Given the description of an element on the screen output the (x, y) to click on. 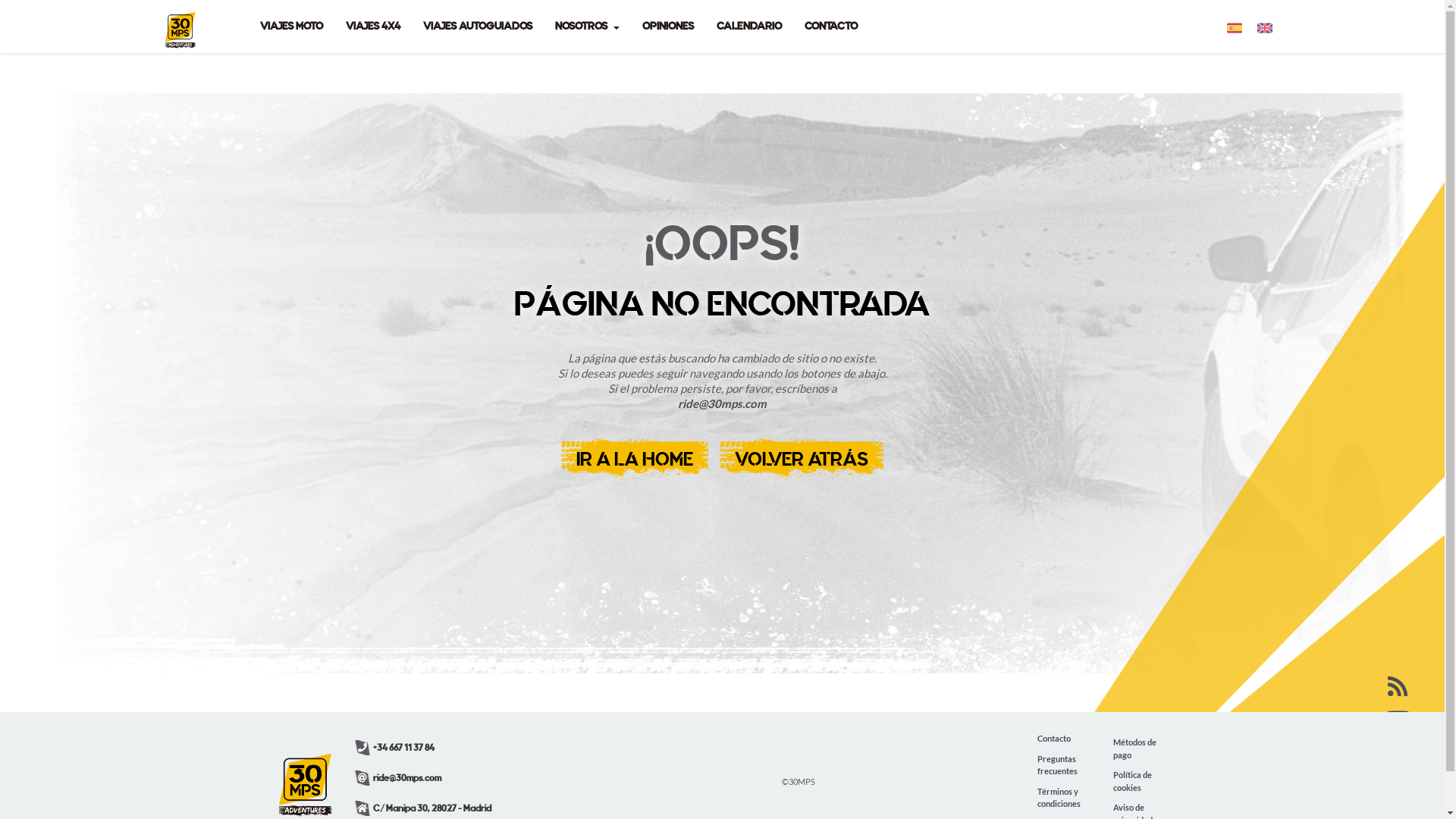
IR A LA HOME Element type: text (634, 458)
VIAJES MOTO Element type: text (291, 26)
Facebook Element type: hover (1397, 754)
Contacto Element type: text (1053, 738)
  +34 667 11 37 84 Element type: text (394, 747)
VIAJES 4X4 Element type: text (372, 26)
Youtube Element type: hover (1397, 720)
Preguntas frecuentes Element type: text (1063, 764)
  C/ Manipa 30, 28027 - Madrid Element type: text (422, 807)
OPINIONES Element type: text (667, 26)
30mps Adventures Element type: hover (179, 19)
contactar por whatsapp Element type: hover (37, 781)
VIAJES AUTOGUIADOS Element type: text (476, 26)
english Element type: hover (1264, 27)
ride@30mps.com Element type: text (721, 403)
CALENDARIO Element type: text (749, 26)
NOSOTROS   Element type: text (586, 26)
  ride@30mps.com Element type: text (397, 777)
CONTACTO Element type: text (831, 26)
Instagram Element type: hover (1397, 788)
